Given the description of an element on the screen output the (x, y) to click on. 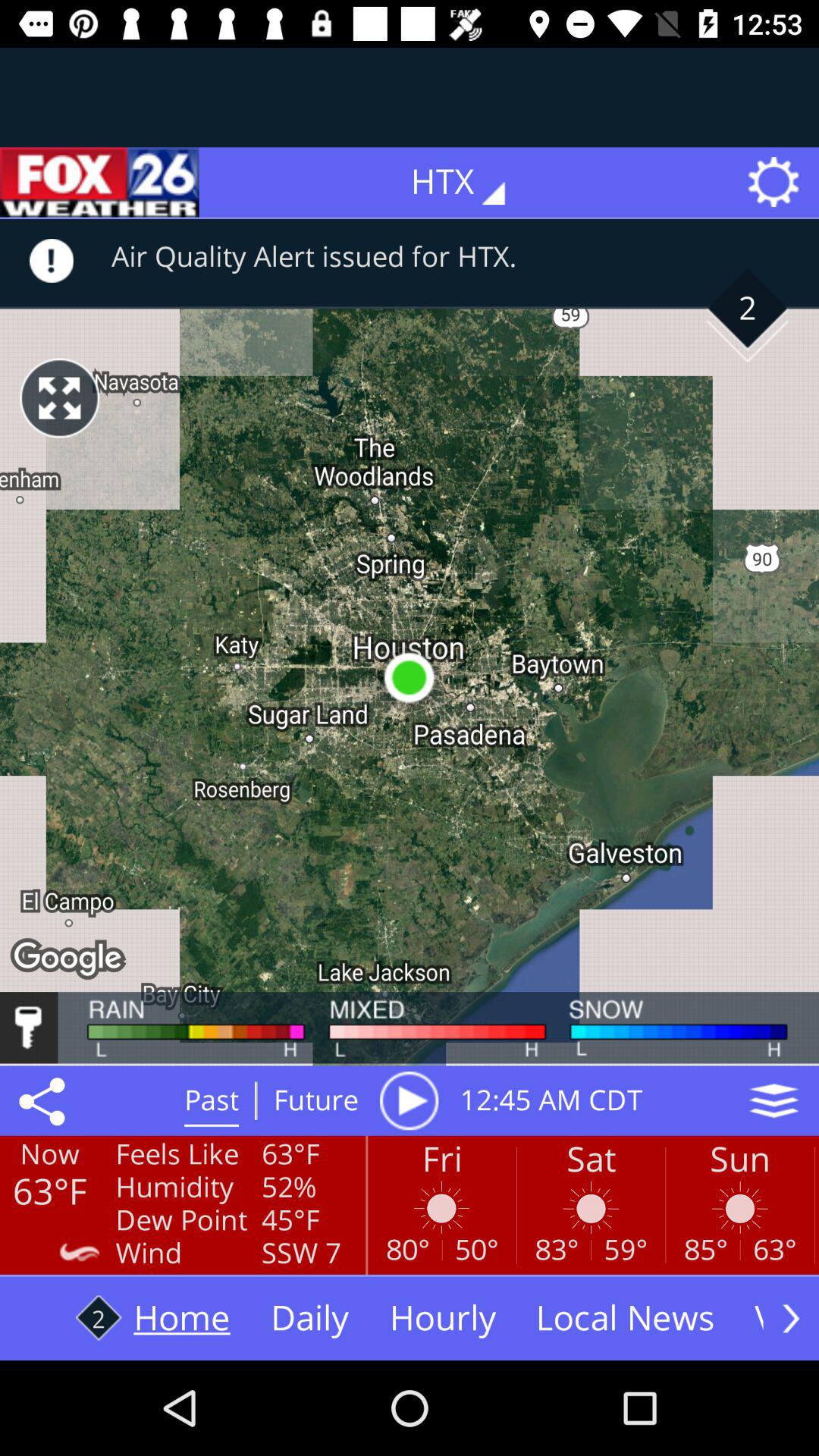
select icon next to the feels like (44, 1100)
